Given the description of an element on the screen output the (x, y) to click on. 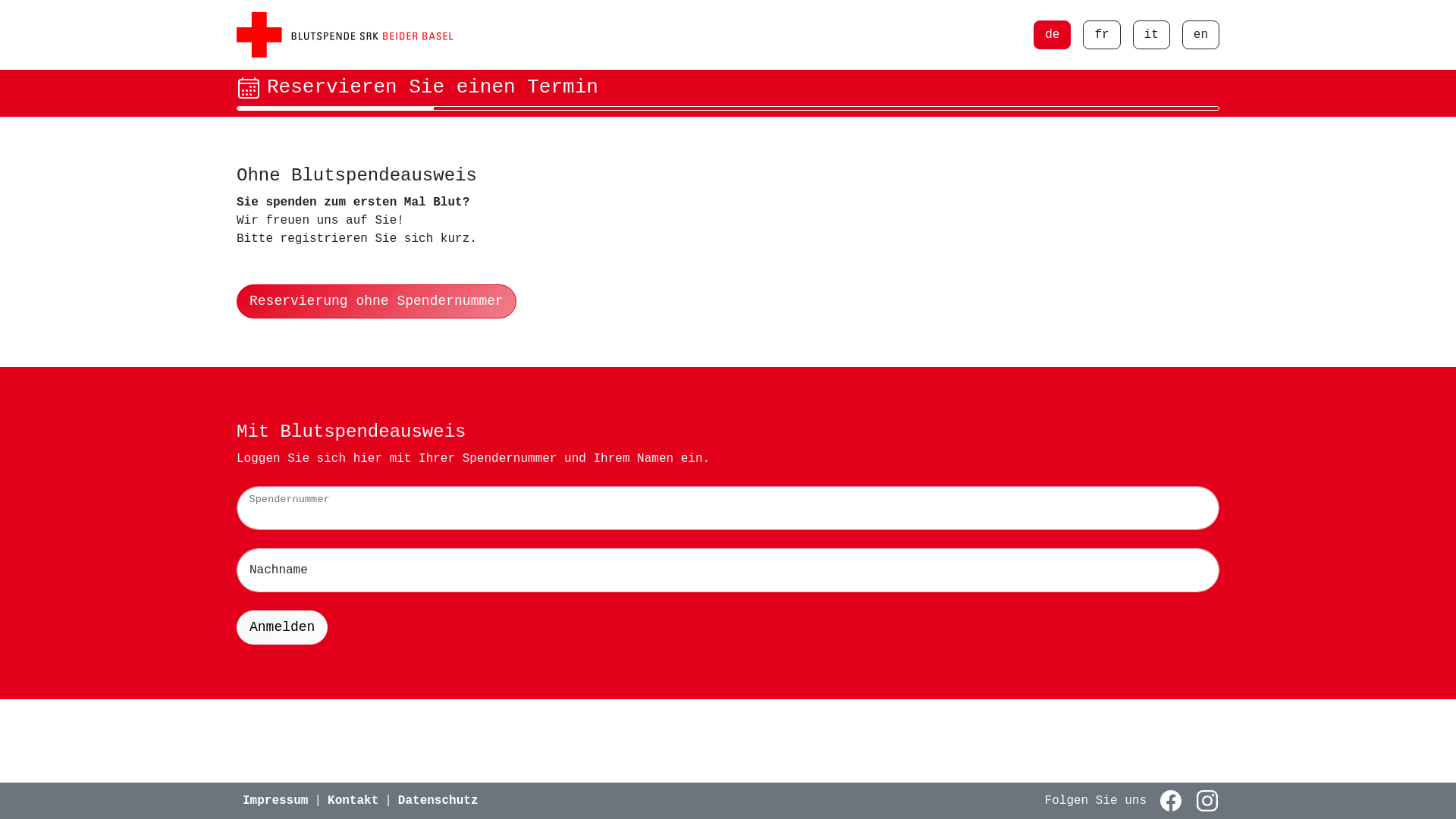
ionicons-v5_logos Element type: text (1201, 800)
de Element type: text (1051, 34)
Impressum Element type: text (274, 800)
it Element type: text (1151, 34)
fr Element type: text (1101, 34)
Datenschutz Element type: text (438, 800)
Anmelden Element type: text (281, 627)
Kontakt Element type: text (352, 800)
en Element type: text (1200, 34)
Reservierung ohne Spendernummer Element type: text (376, 301)
